Given the description of an element on the screen output the (x, y) to click on. 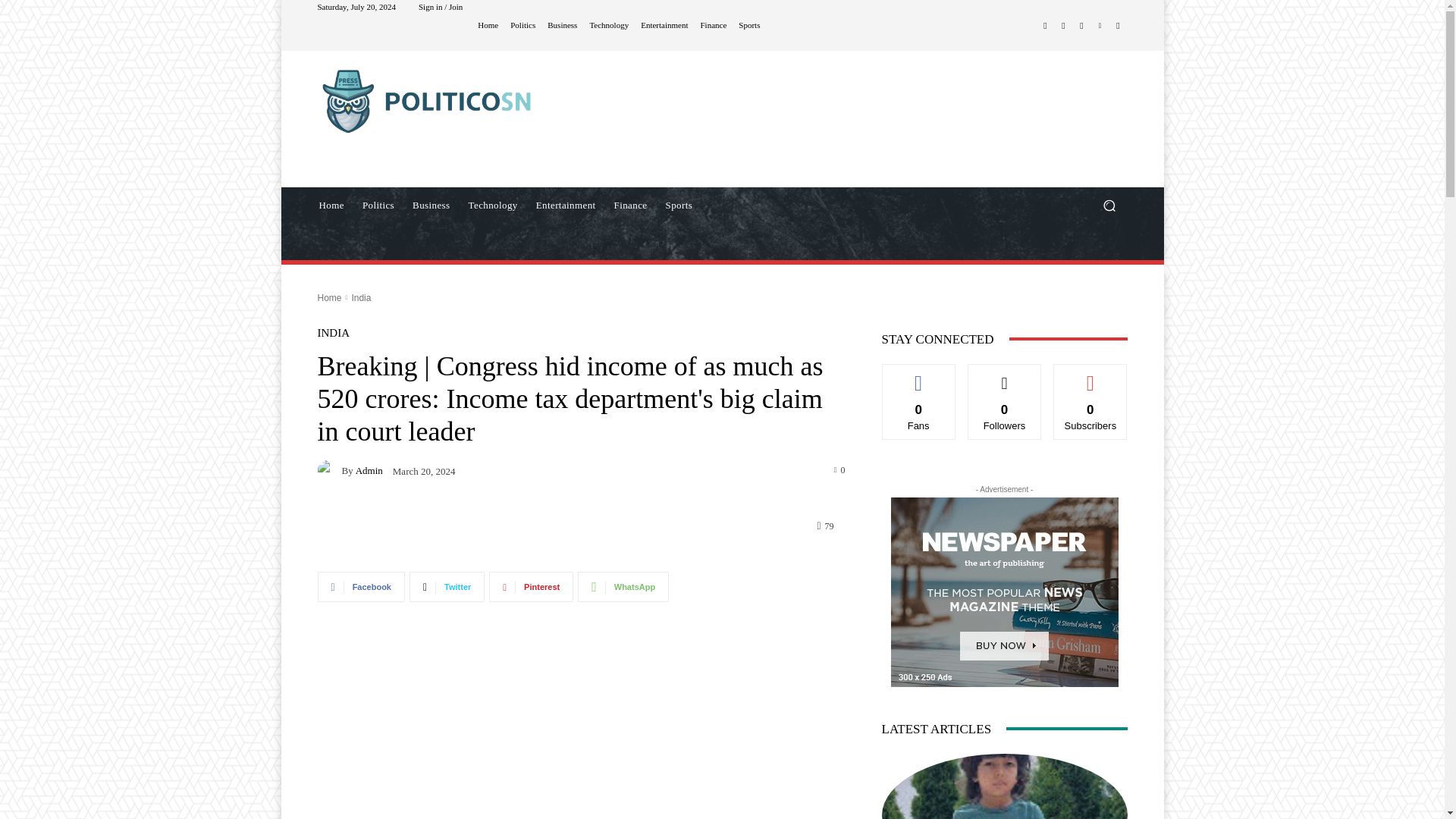
Entertainment (663, 25)
Youtube (1117, 25)
Finance (630, 205)
Twitter (1080, 25)
Entertainment (566, 205)
Home (487, 25)
View all posts in India (360, 297)
Home (330, 205)
Business (430, 205)
Politics (523, 25)
Finance (713, 25)
Politics (378, 205)
admin (328, 469)
Facebook (1044, 25)
Business (561, 25)
